Given the description of an element on the screen output the (x, y) to click on. 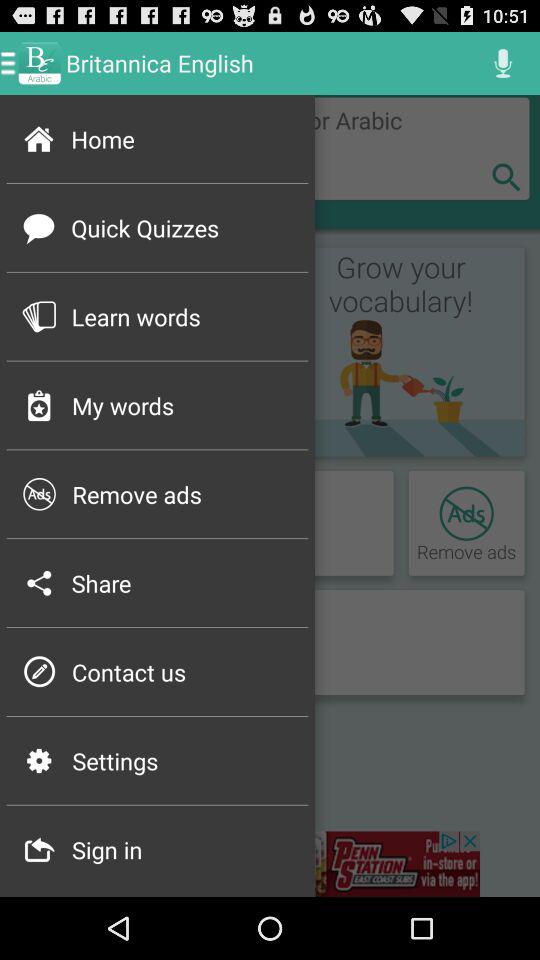
go to home (268, 148)
